Given the description of an element on the screen output the (x, y) to click on. 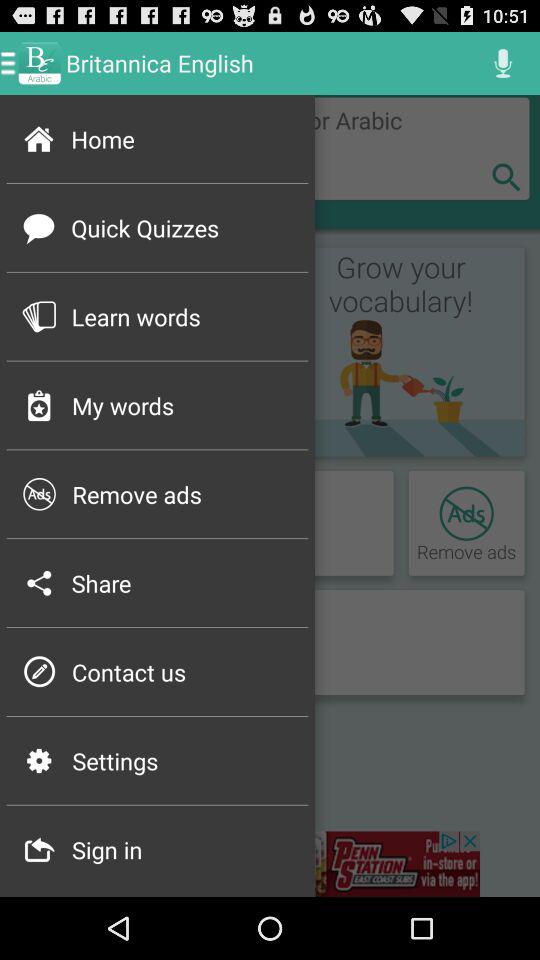
go to home (268, 148)
